Given the description of an element on the screen output the (x, y) to click on. 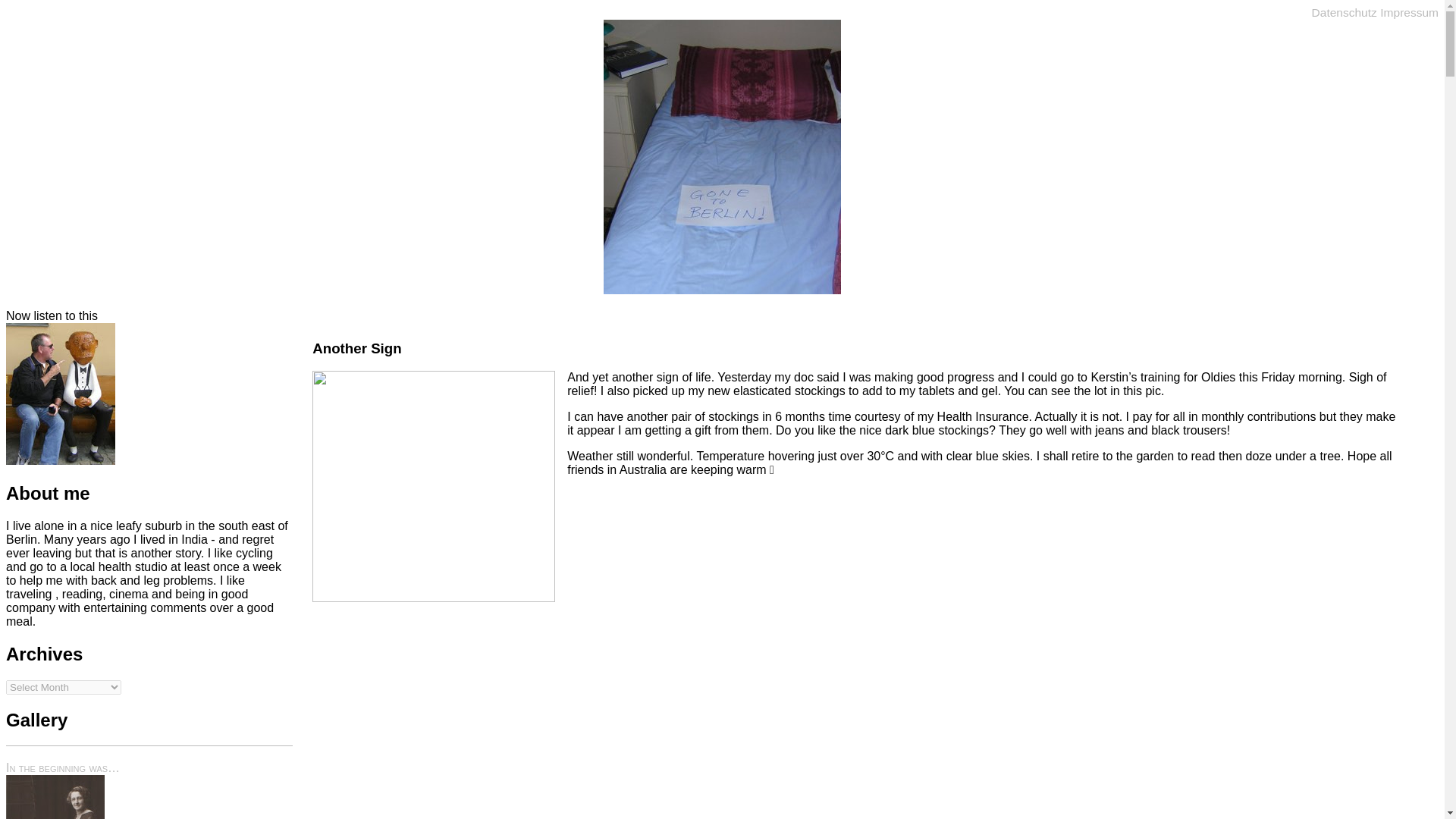
Datenschutz (1344, 12)
Post (856, 348)
